Given the description of an element on the screen output the (x, y) to click on. 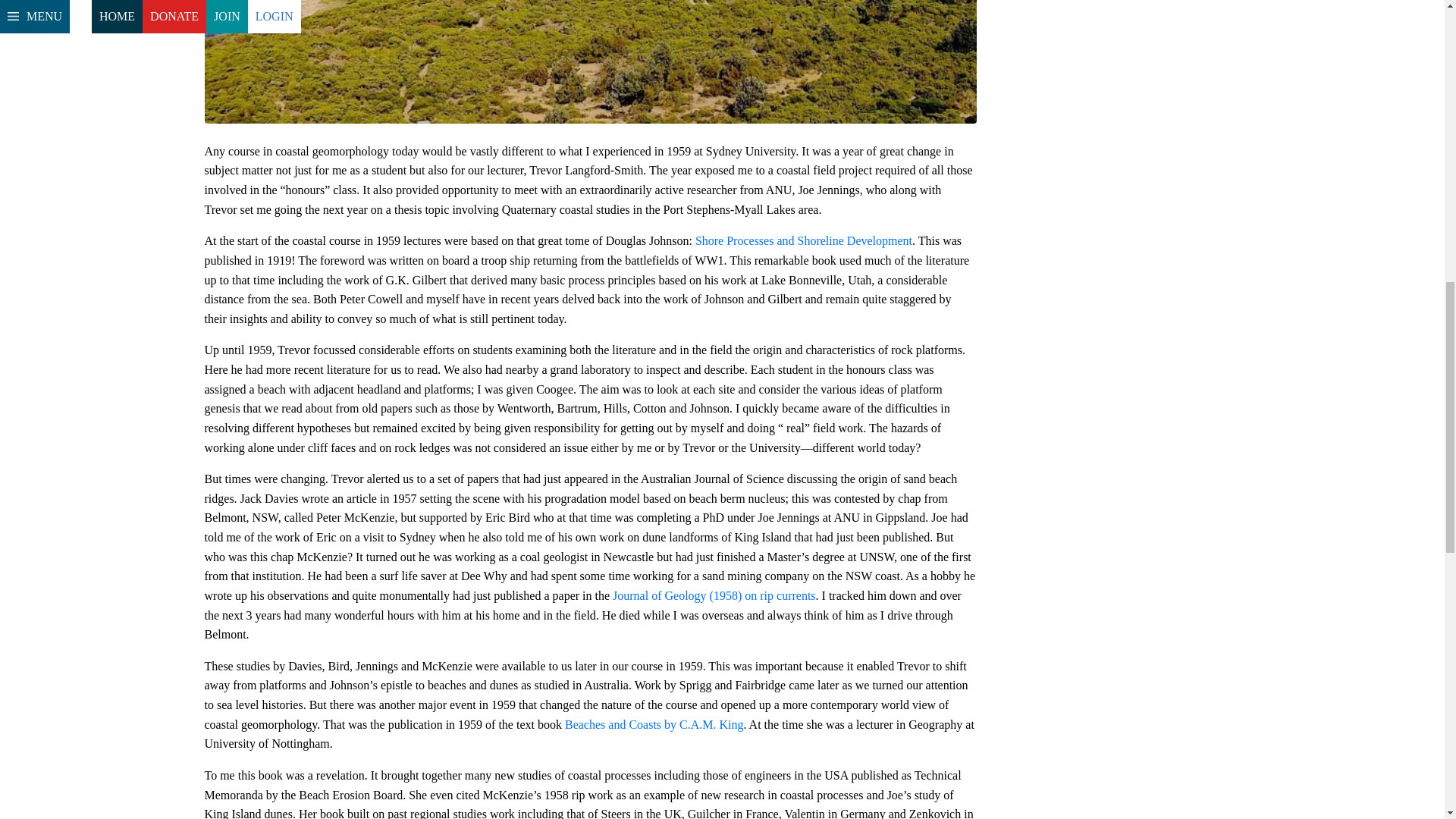
King1960 (654, 724)
Johnson1919 (803, 240)
McKenzie1958 (713, 594)
